Given the description of an element on the screen output the (x, y) to click on. 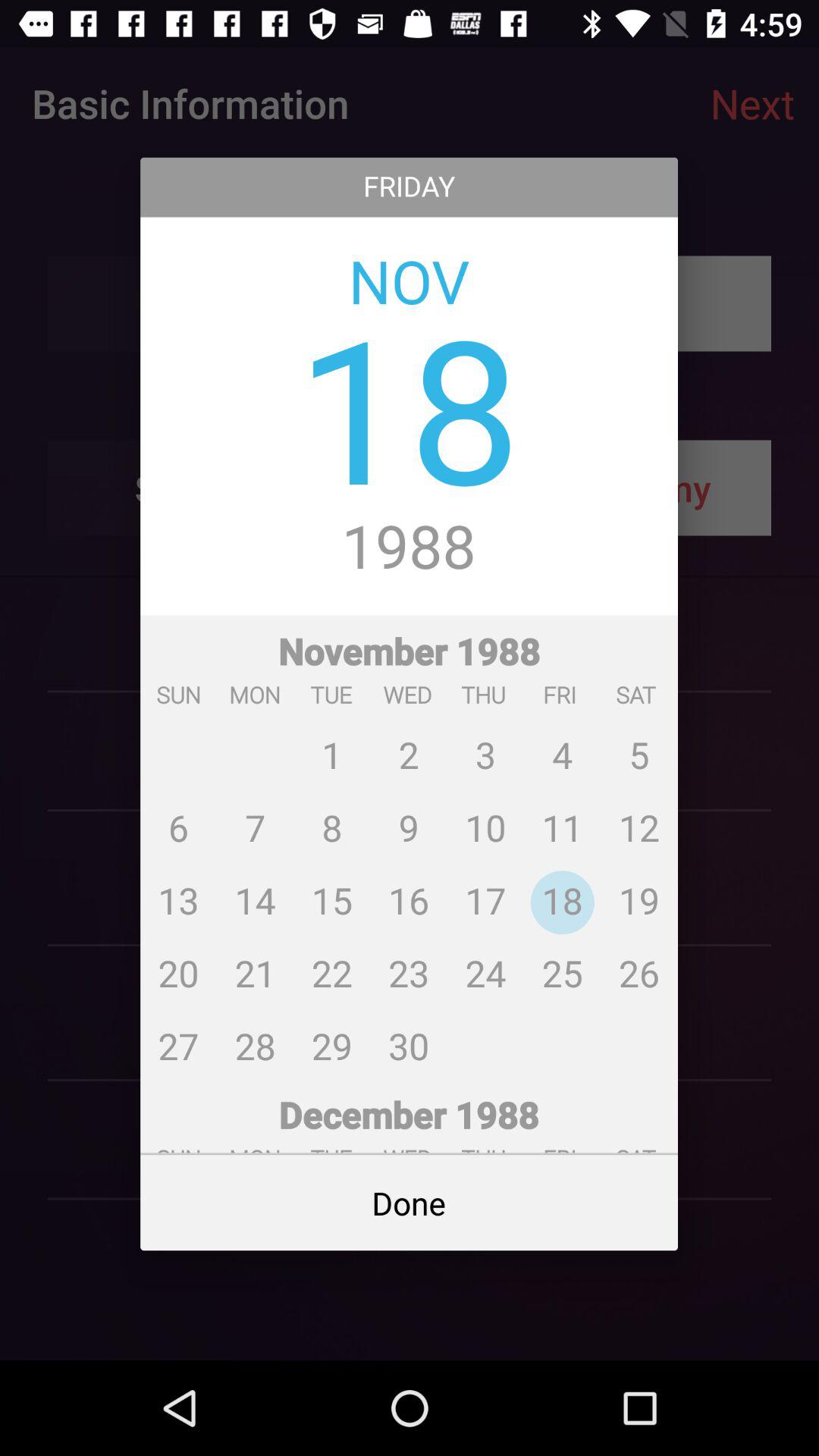
tap item below the 18 icon (408, 548)
